Given the description of an element on the screen output the (x, y) to click on. 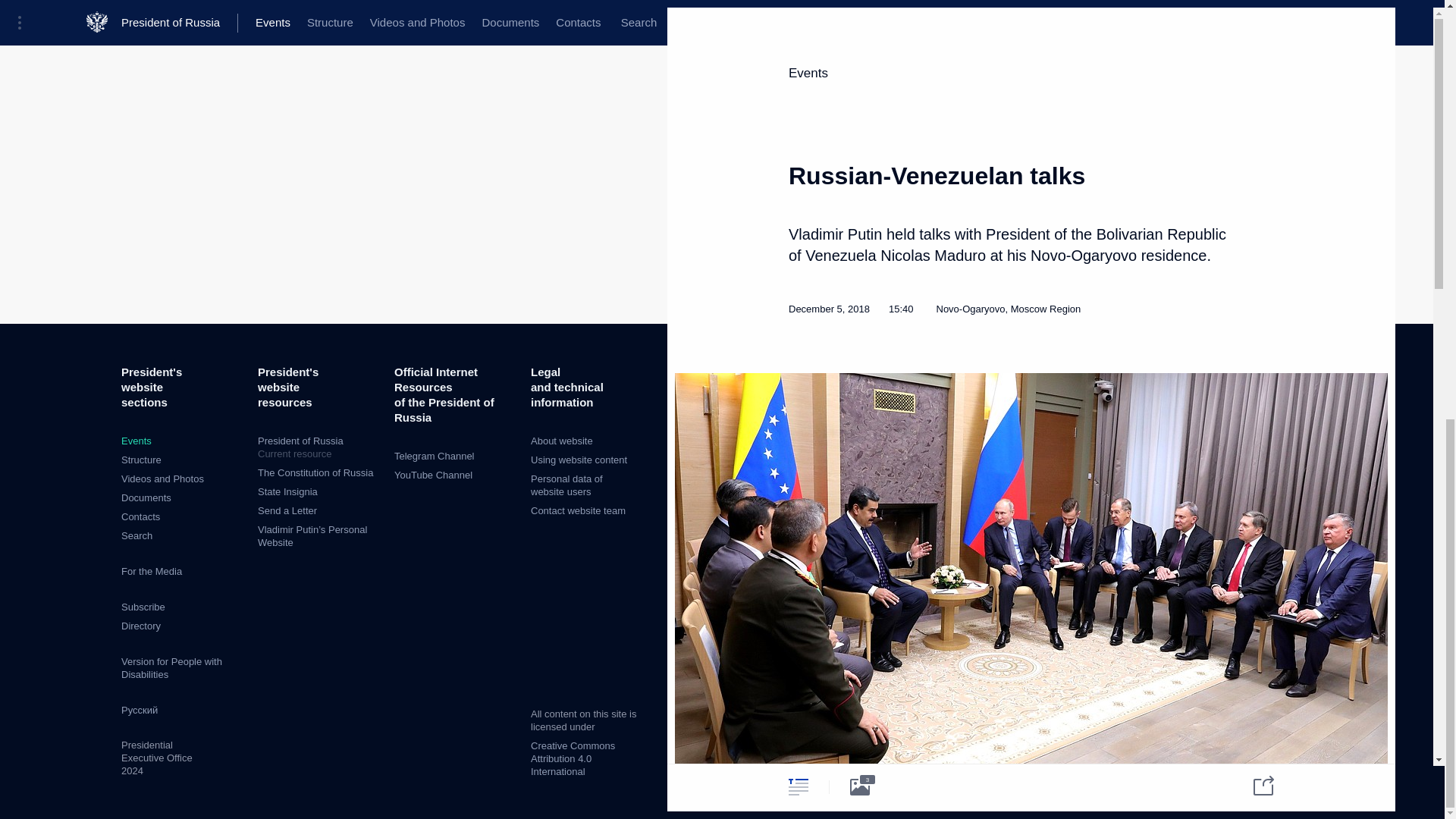
Contact website team (578, 510)
Creative Commons Attribution 4.0 International (572, 758)
Search (136, 535)
YouTube Channel (432, 474)
Personal data of website users (566, 485)
State Insignia (287, 491)
Subscribe (142, 606)
Send a Letter (287, 510)
Using website content (579, 460)
Contacts (140, 516)
Nicolas Maduro (969, 387)
The Constitution of Russia (314, 472)
Structure (140, 460)
Telegram Channel (434, 455)
Videos and Photos (161, 478)
